Given the description of an element on the screen output the (x, y) to click on. 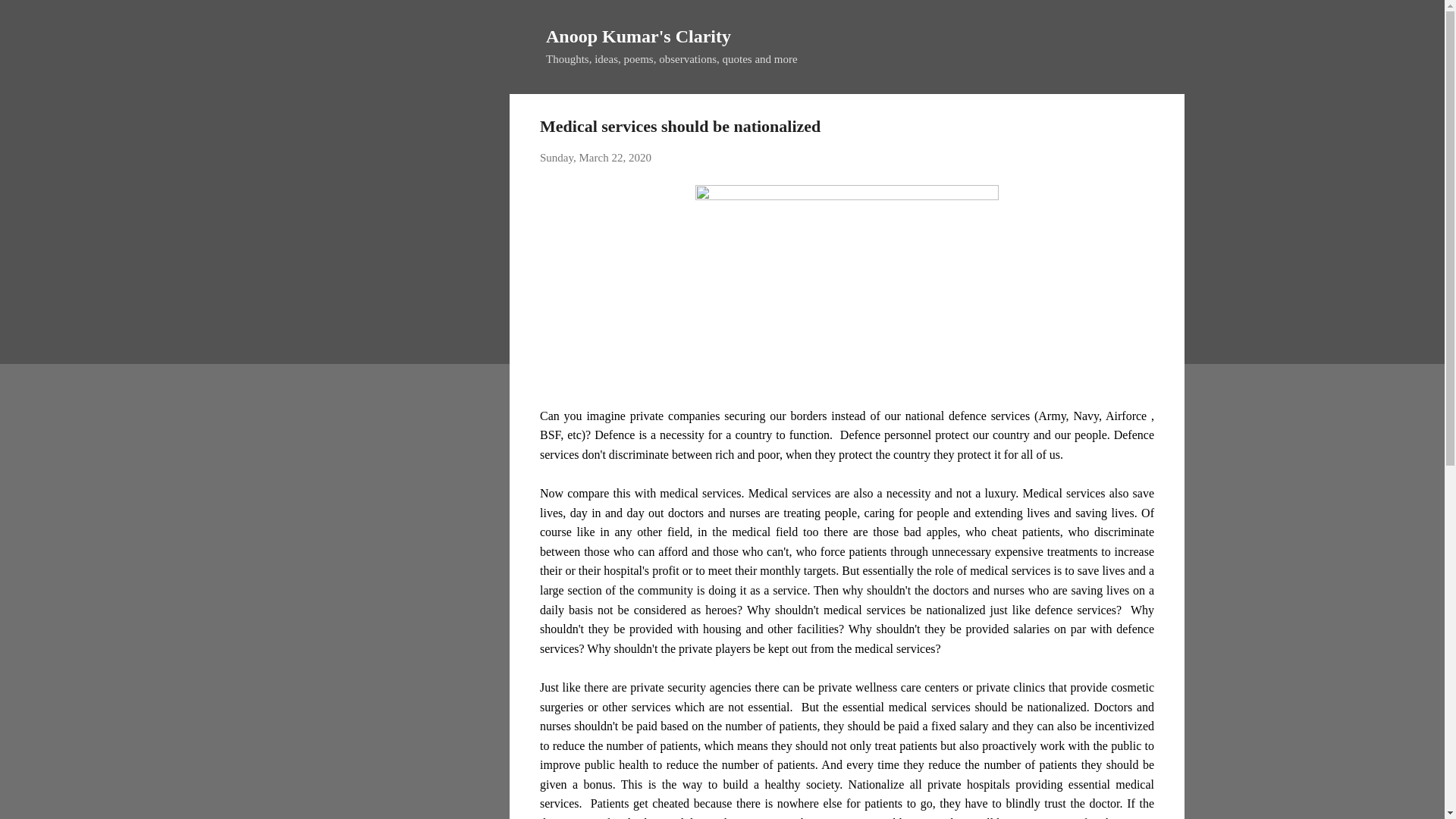
Anoop Kumar's Clarity (638, 35)
Search (29, 18)
permanent link (595, 157)
Sunday, March 22, 2020 (595, 157)
